Given the description of an element on the screen output the (x, y) to click on. 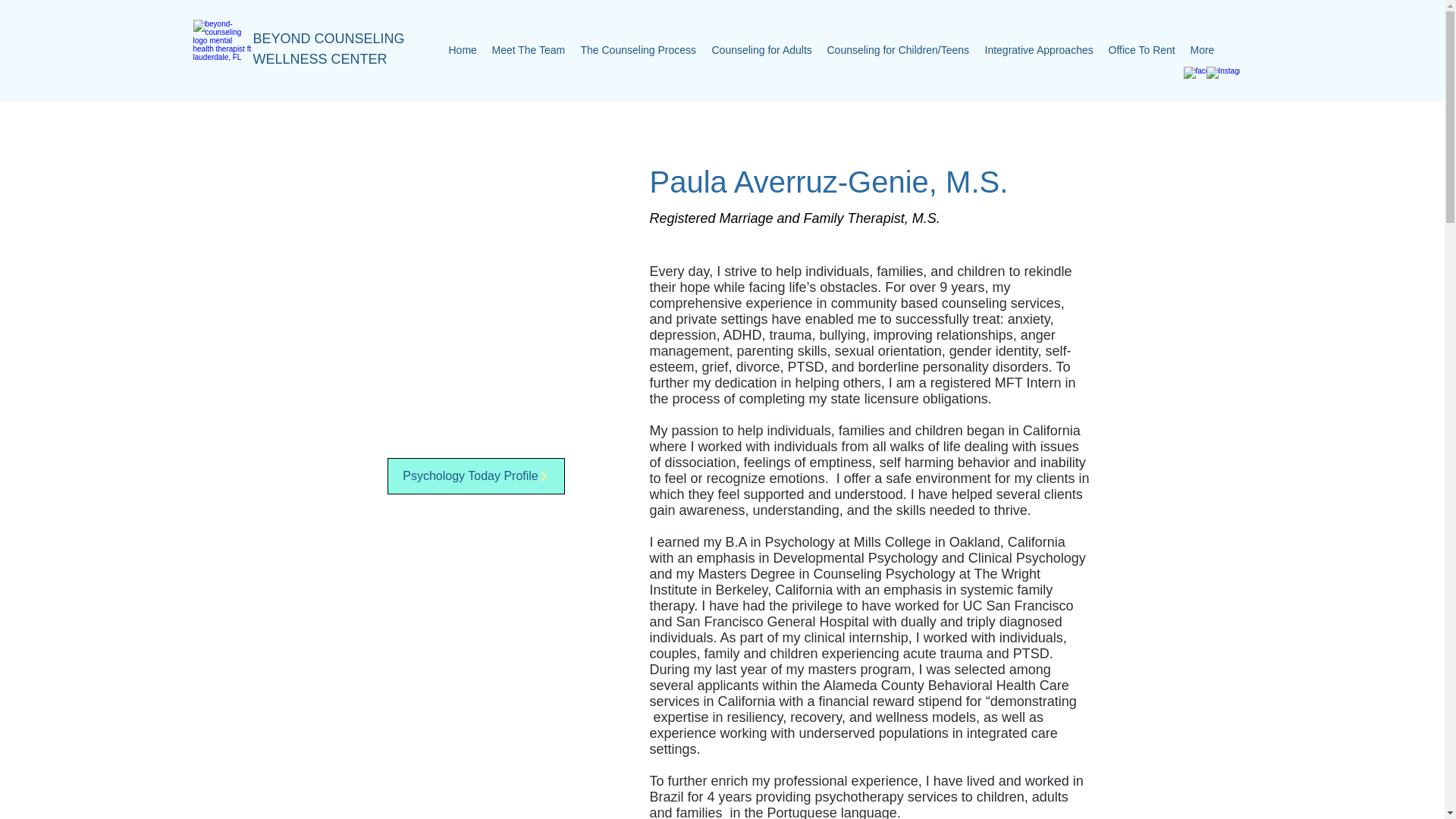
Meet The Team (527, 49)
Counseling for Adults (760, 49)
The Counseling Process (638, 49)
Home (462, 49)
Integrative Approaches (1038, 49)
